Given the description of an element on the screen output the (x, y) to click on. 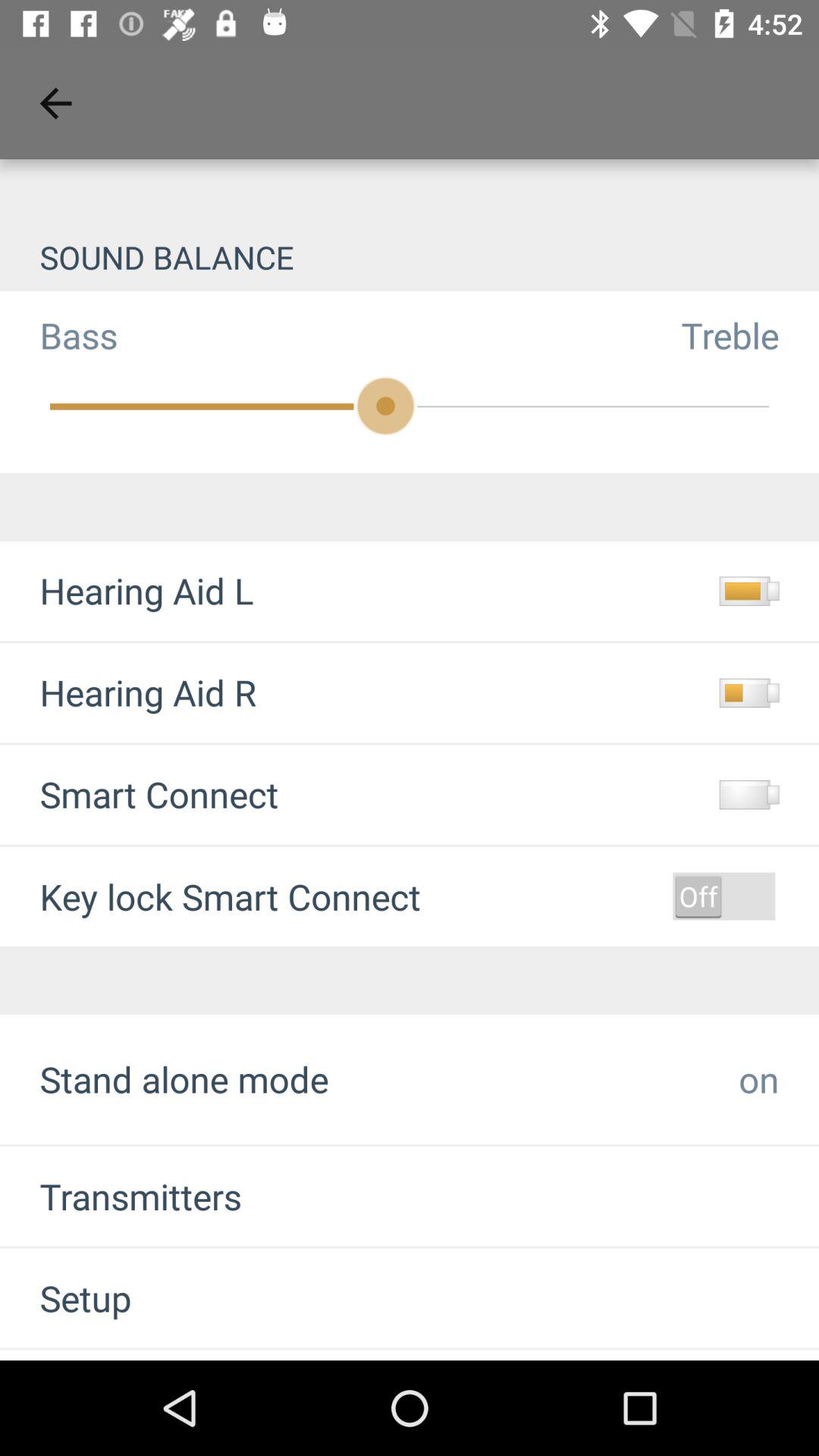
turn on the icon to the right of bass (750, 335)
